Given the description of an element on the screen output the (x, y) to click on. 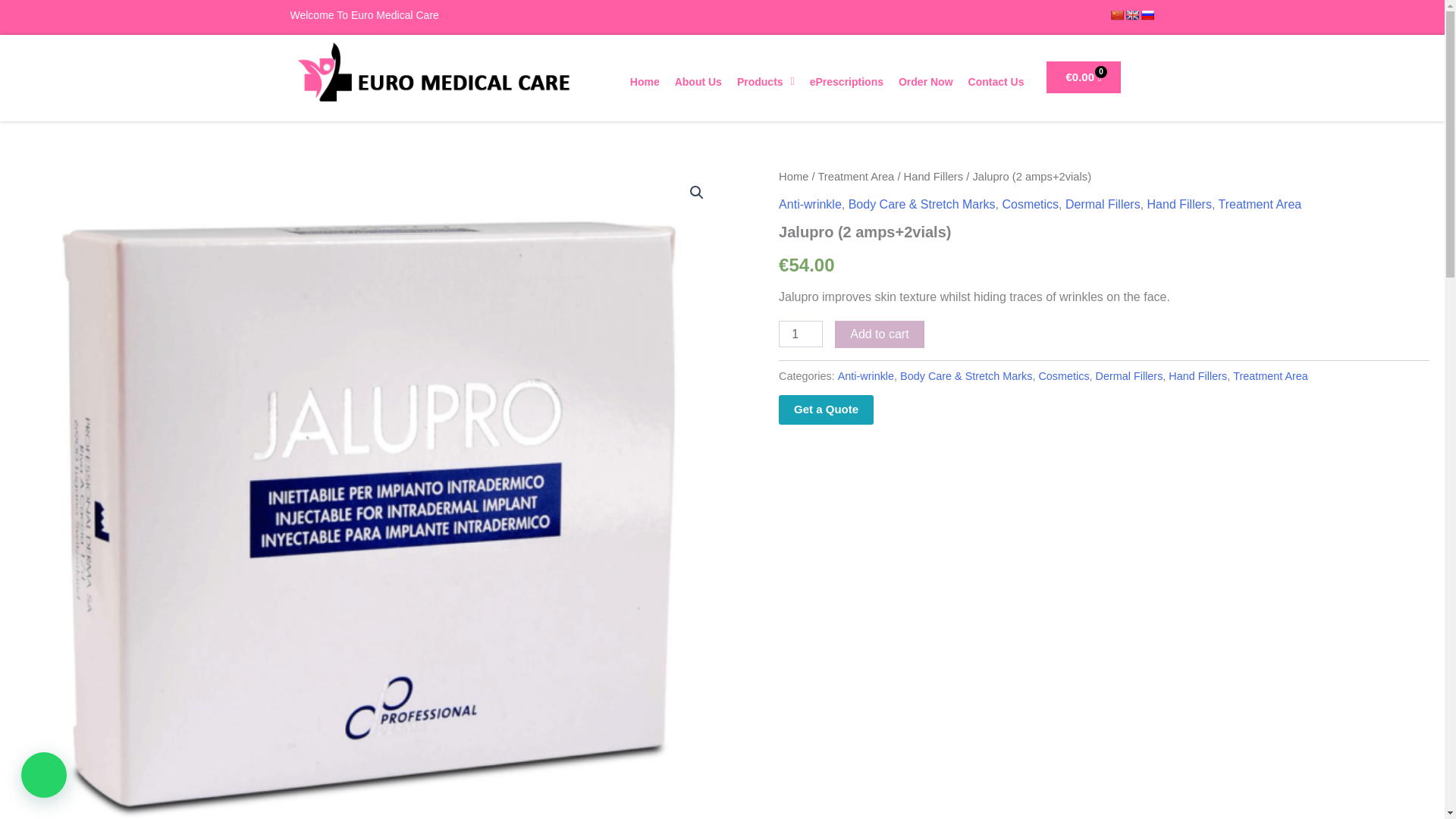
Russian (1147, 15)
About Us (697, 81)
English (1131, 15)
Order Now (925, 81)
Products (765, 81)
1 (800, 334)
ePrescriptions (846, 81)
Home (644, 81)
